Given the description of an element on the screen output the (x, y) to click on. 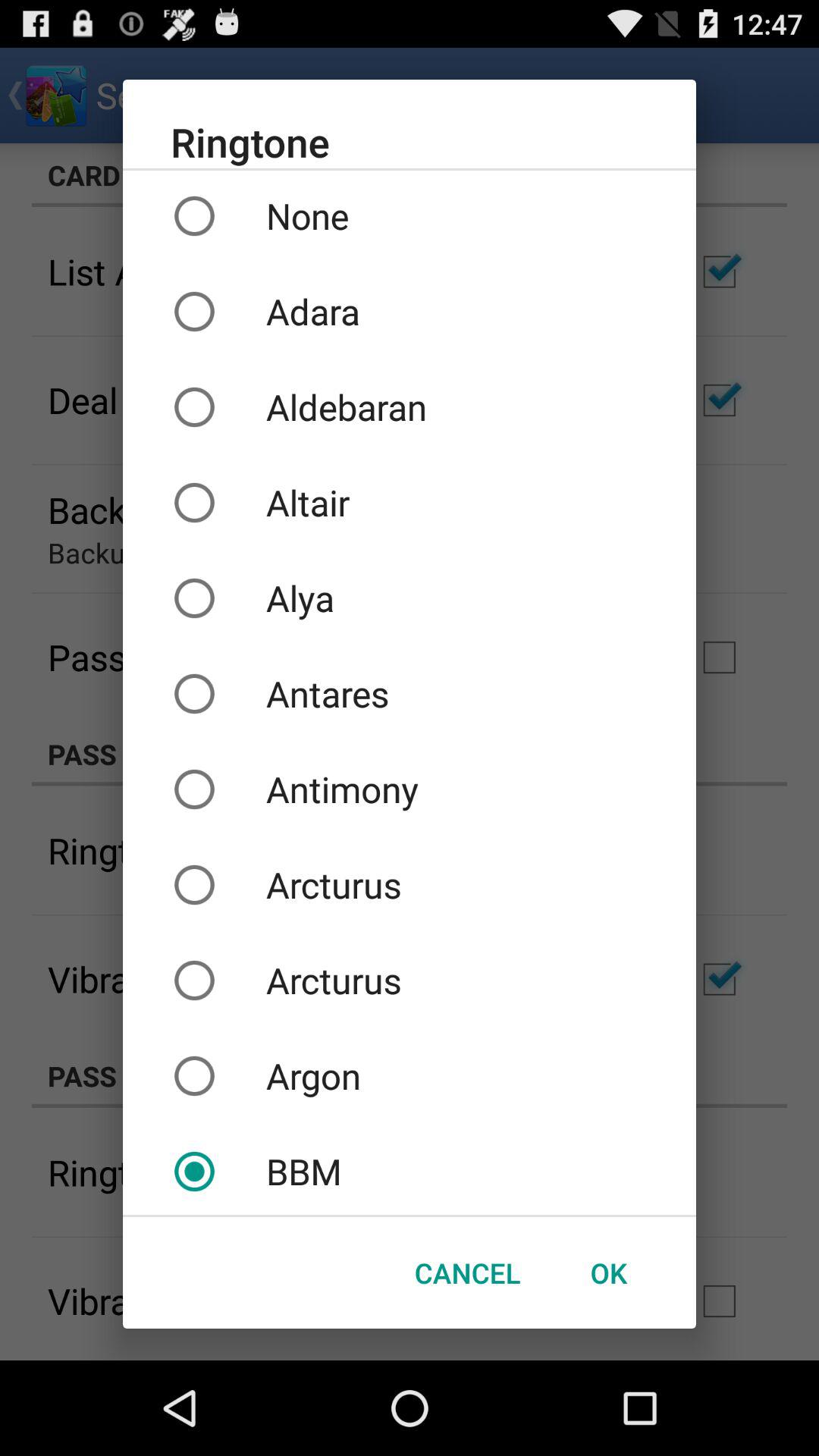
tap the icon below the bbm icon (608, 1272)
